Given the description of an element on the screen output the (x, y) to click on. 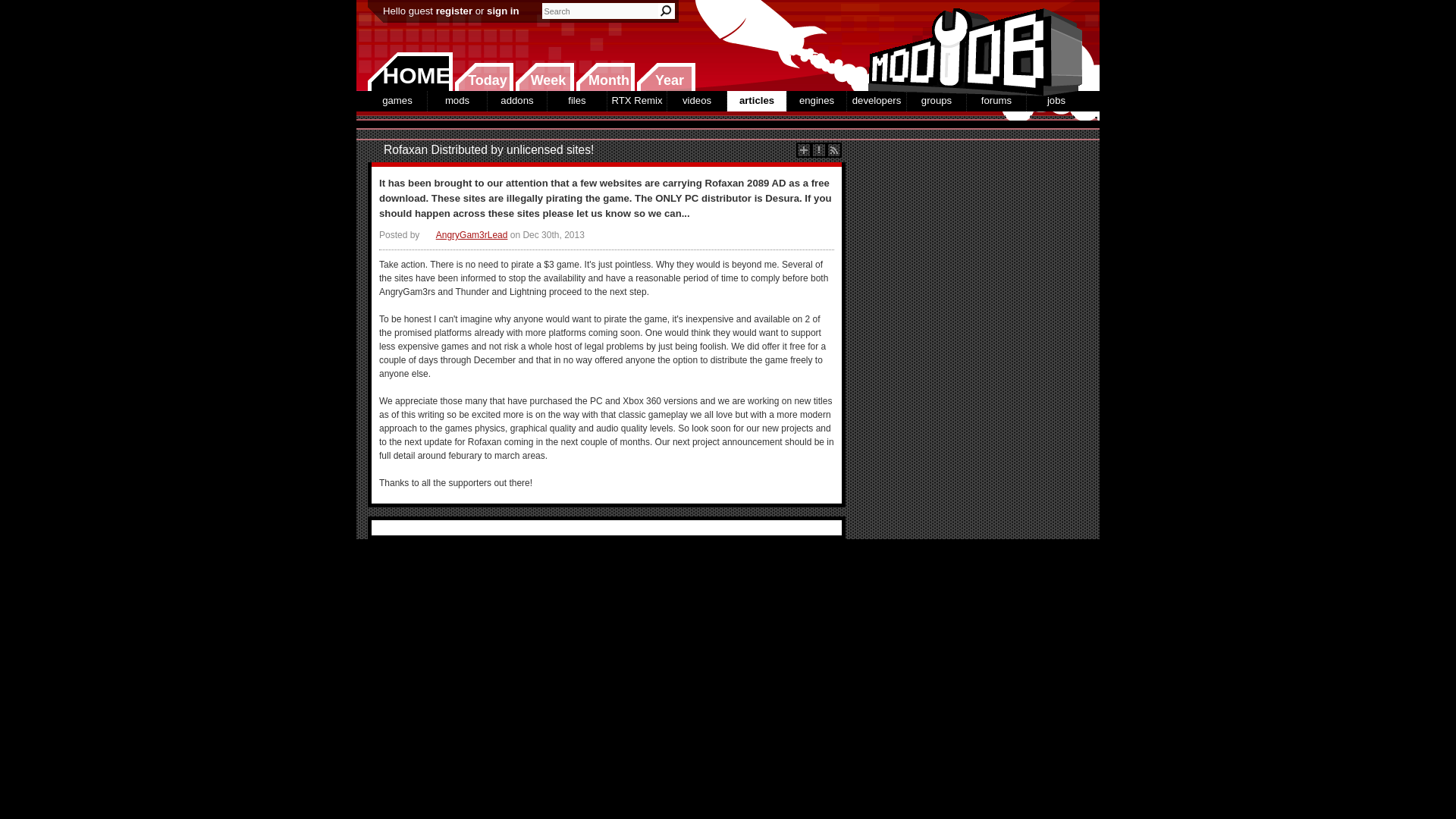
files (577, 100)
Article Manager (465, 235)
games (397, 100)
addons (517, 100)
Today (483, 76)
HOME (410, 71)
mods (457, 100)
New this week (545, 76)
Search ModDB (666, 10)
ModDB Home (970, 45)
RSS (834, 150)
Post news (803, 150)
Search (666, 10)
Report (818, 150)
New this month (605, 76)
